Given the description of an element on the screen output the (x, y) to click on. 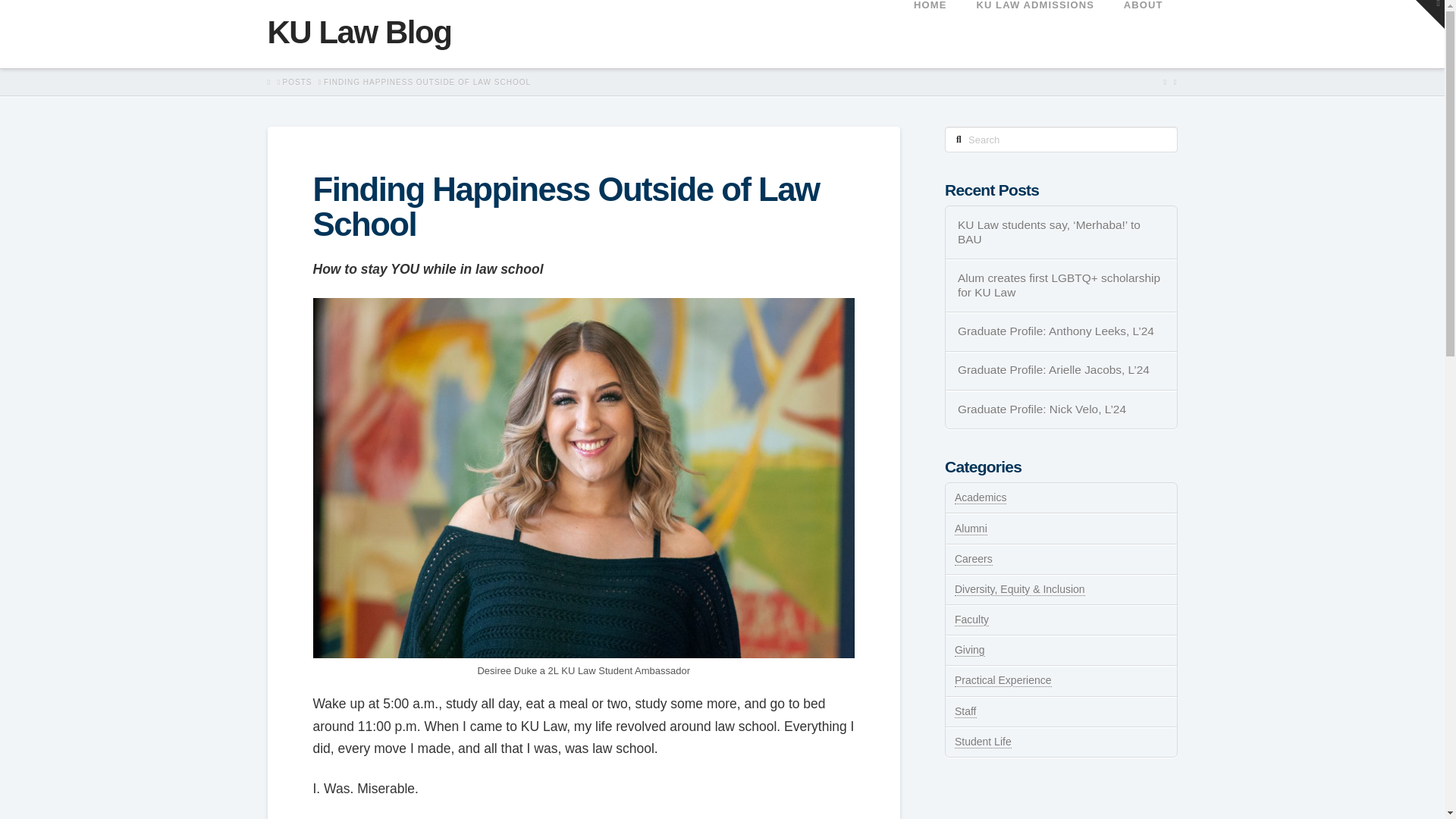
Alumni (971, 528)
ABOUT (1142, 33)
Practical Experience (1003, 680)
Faculty (971, 619)
Staff (965, 711)
POSTS (297, 81)
KU Law Blog (358, 32)
KU LAW ADMISSIONS (1034, 33)
Giving (970, 649)
Careers (973, 558)
You Are Here (427, 81)
Student Life (983, 741)
Academics (980, 497)
FINDING HAPPINESS OUTSIDE OF LAW SCHOOL (427, 81)
HOME (929, 33)
